Given the description of an element on the screen output the (x, y) to click on. 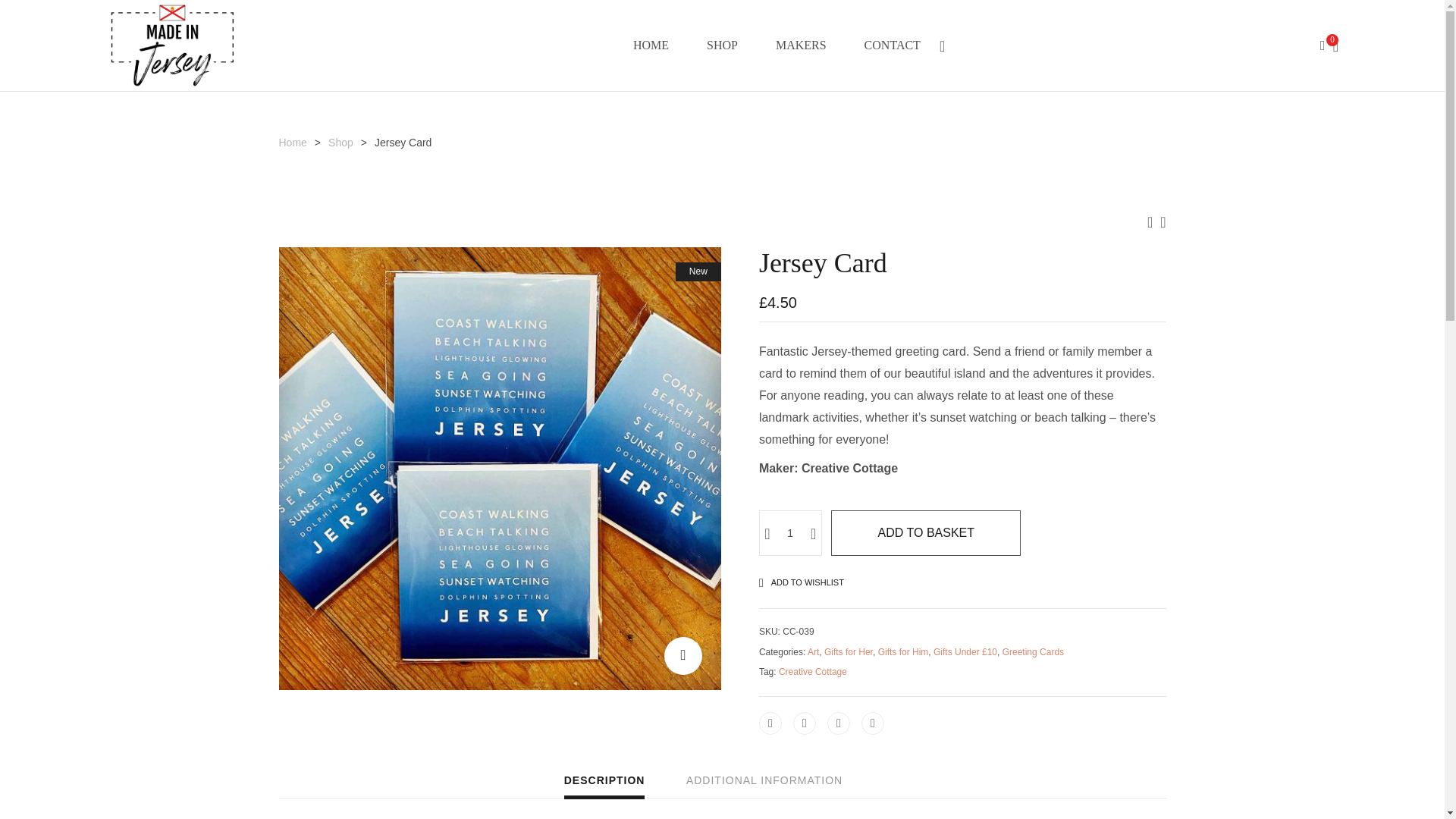
Shop (341, 142)
Share this post on Facebook (769, 722)
Share this post on Pinterest (838, 722)
HOME (650, 45)
MAKERS (801, 45)
CONTACT (892, 45)
Share this post on Twitter (804, 722)
Add to wishlist (804, 582)
Share this post via Email (872, 722)
SHOP (722, 45)
Home (293, 142)
